Given the description of an element on the screen output the (x, y) to click on. 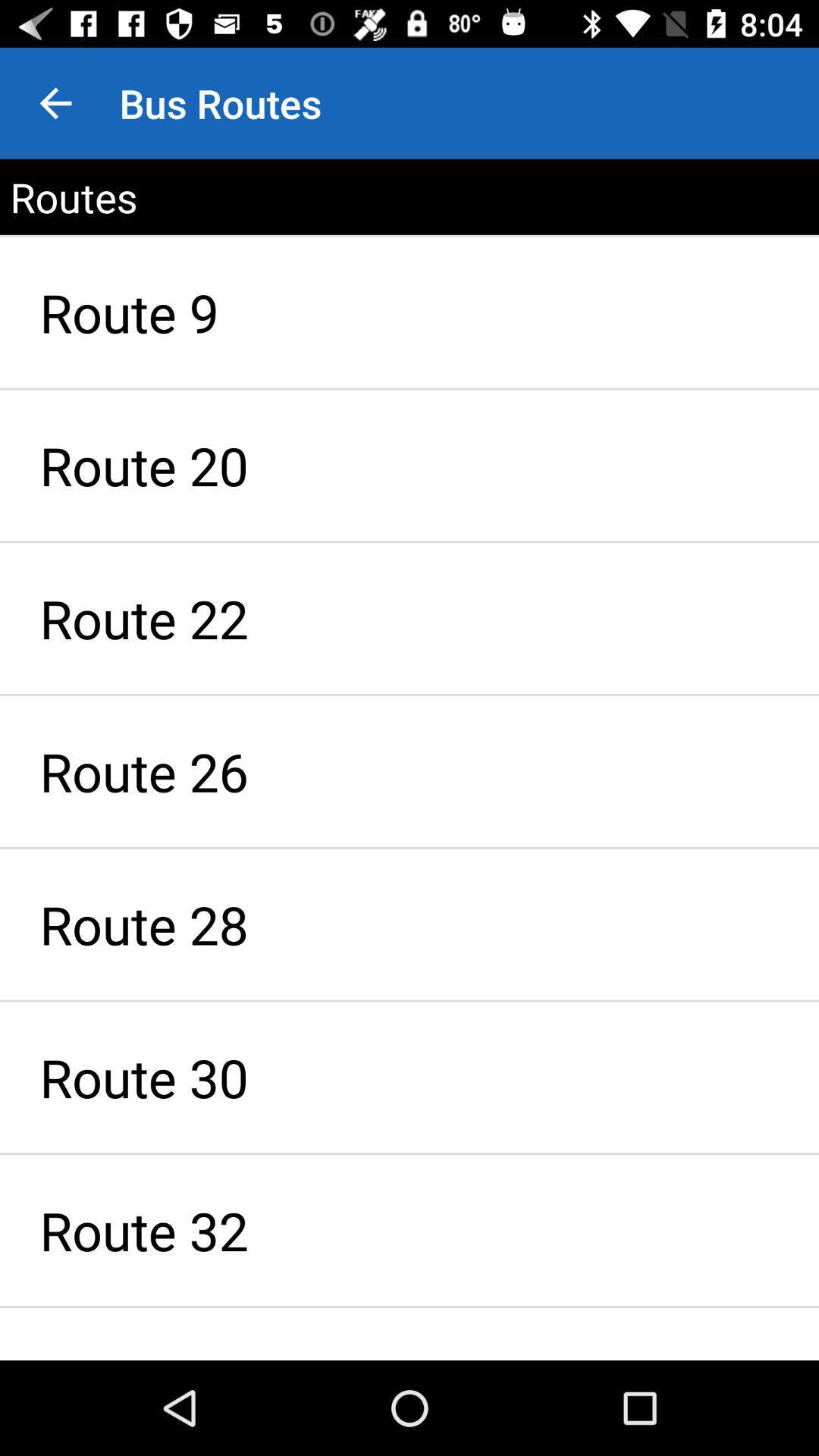
turn on item below route 28 icon (409, 1077)
